Given the description of an element on the screen output the (x, y) to click on. 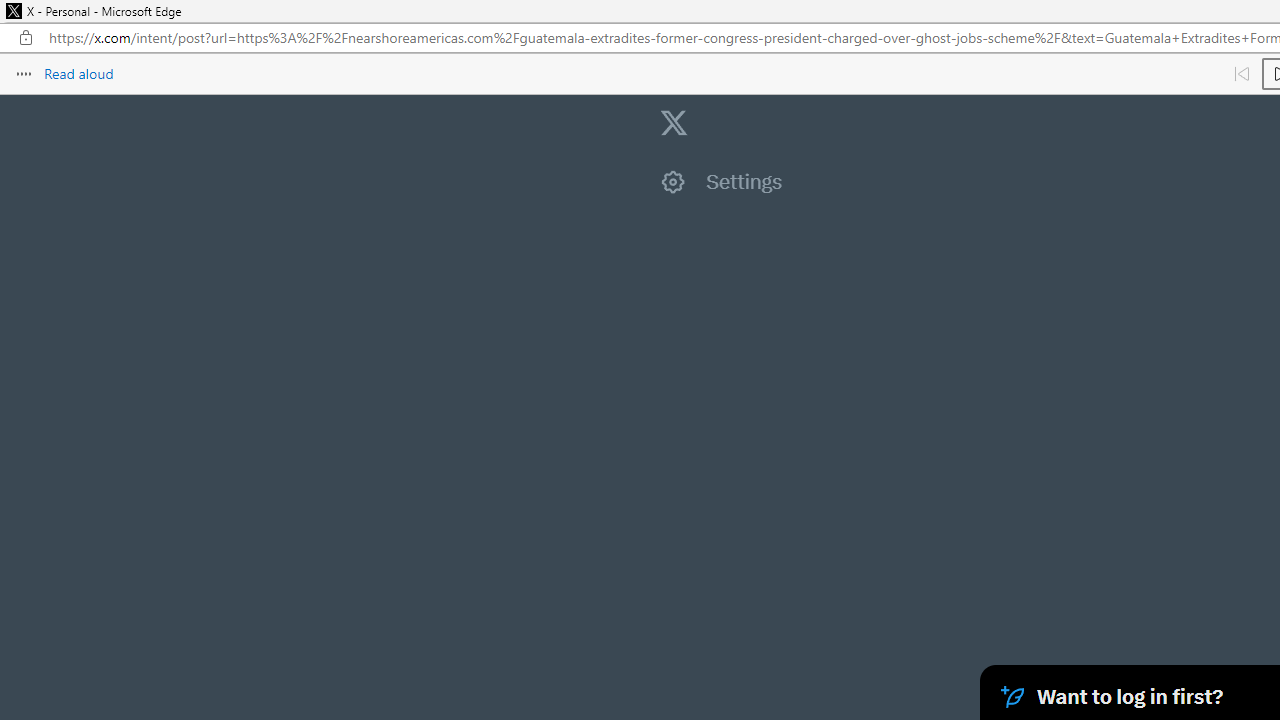
Read previous paragraph (1241, 74)
